Given the description of an element on the screen output the (x, y) to click on. 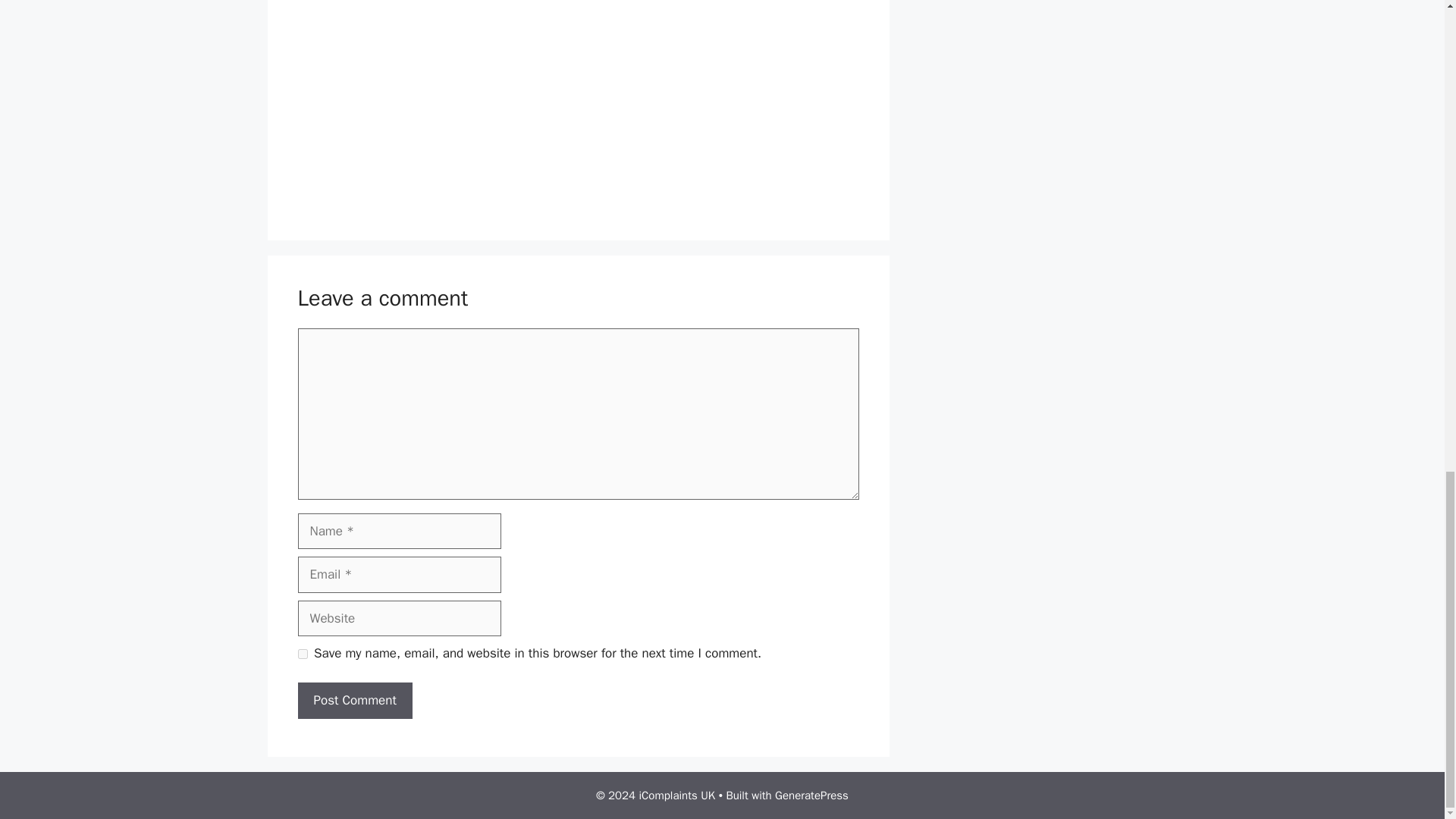
GeneratePress (811, 795)
Post Comment (354, 700)
Post Comment (354, 700)
yes (302, 654)
